Given the description of an element on the screen output the (x, y) to click on. 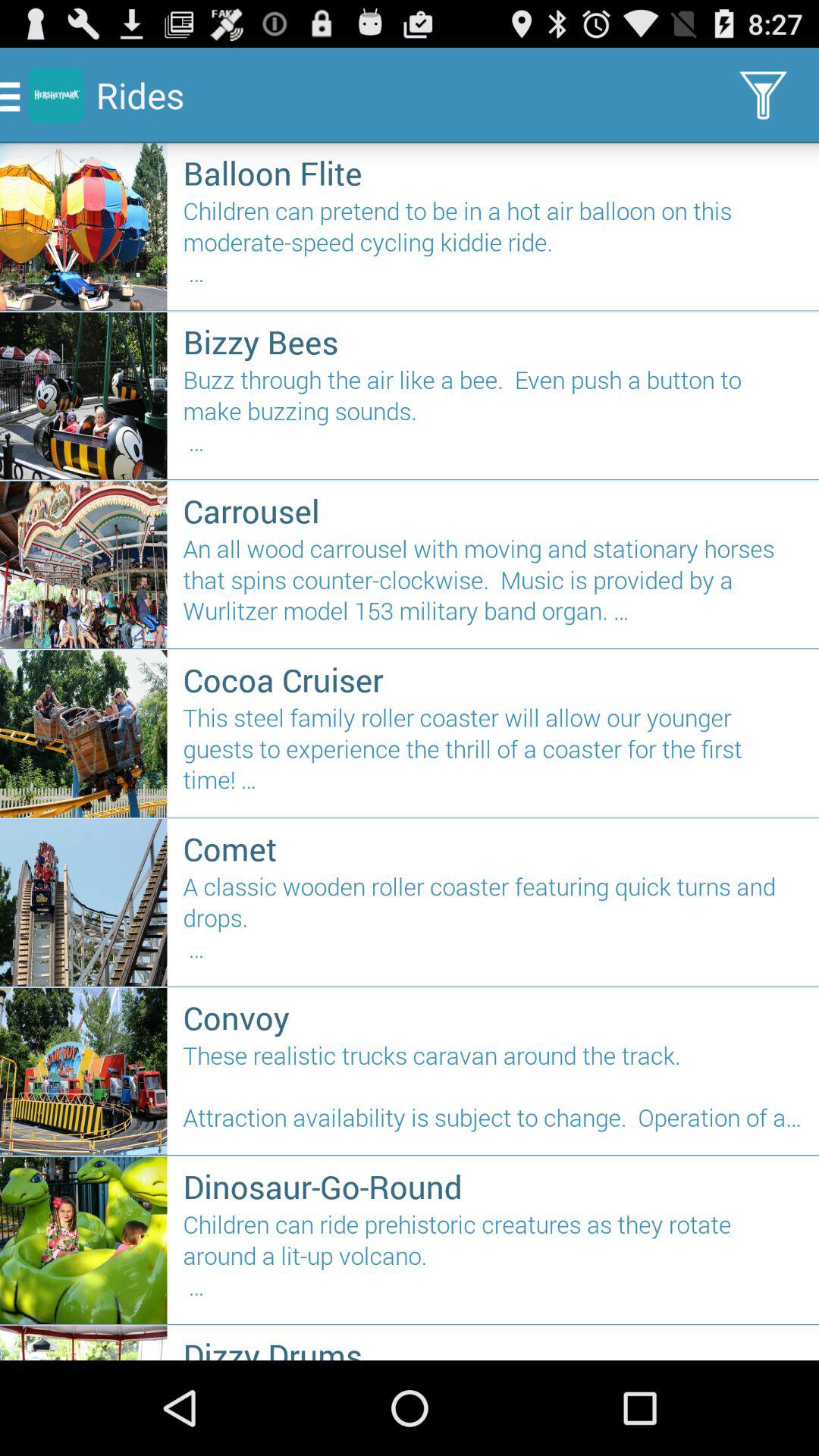
turn off icon to the right of the rides icon (763, 95)
